Given the description of an element on the screen output the (x, y) to click on. 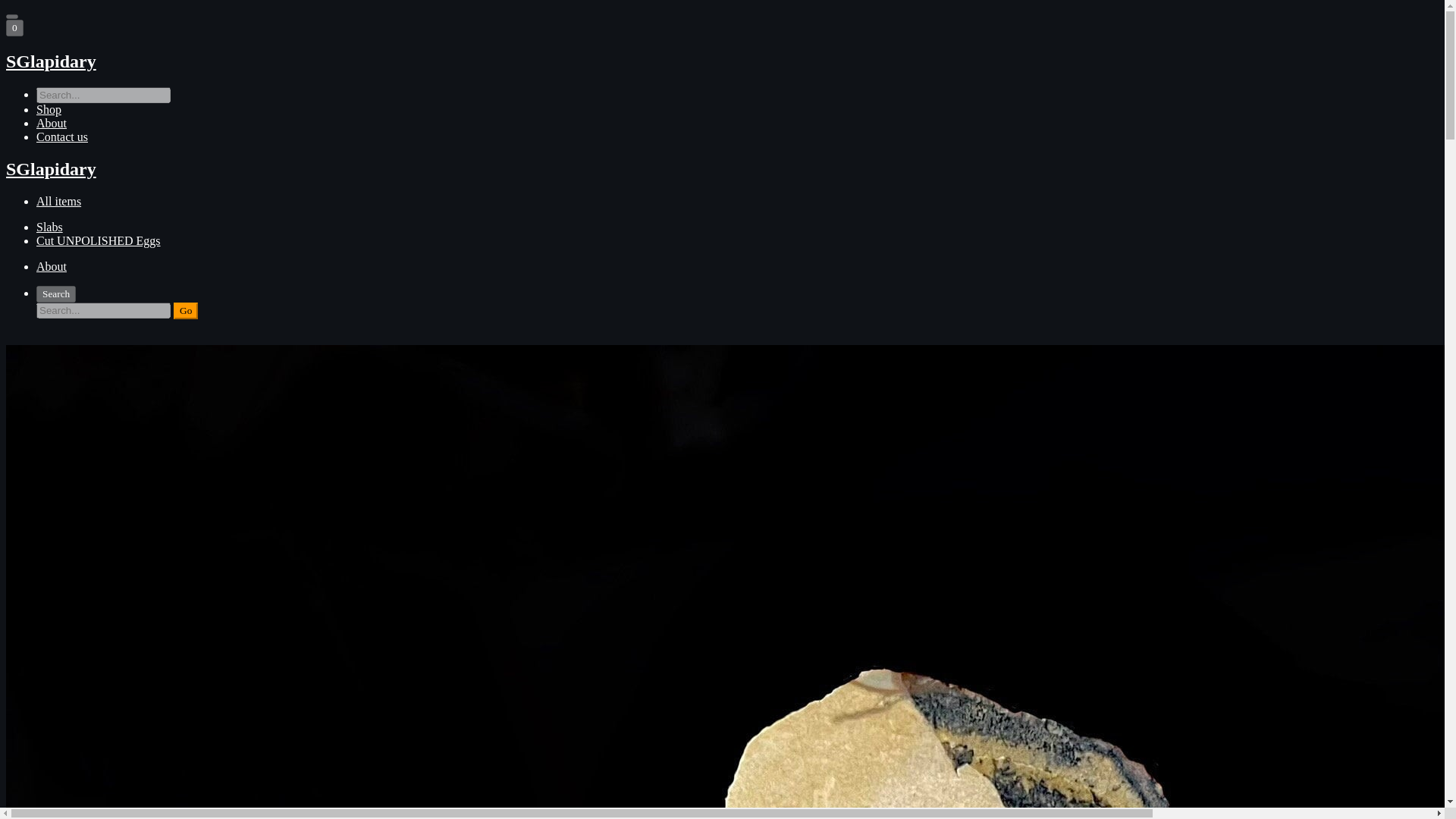
Shop (48, 109)
Slabs (49, 226)
All items (58, 201)
Search (55, 293)
Go (185, 310)
About (51, 123)
About (51, 266)
Cut UNPOLISHED Eggs (98, 240)
Contact us (61, 136)
SGlapidary (721, 61)
